Given the description of an element on the screen output the (x, y) to click on. 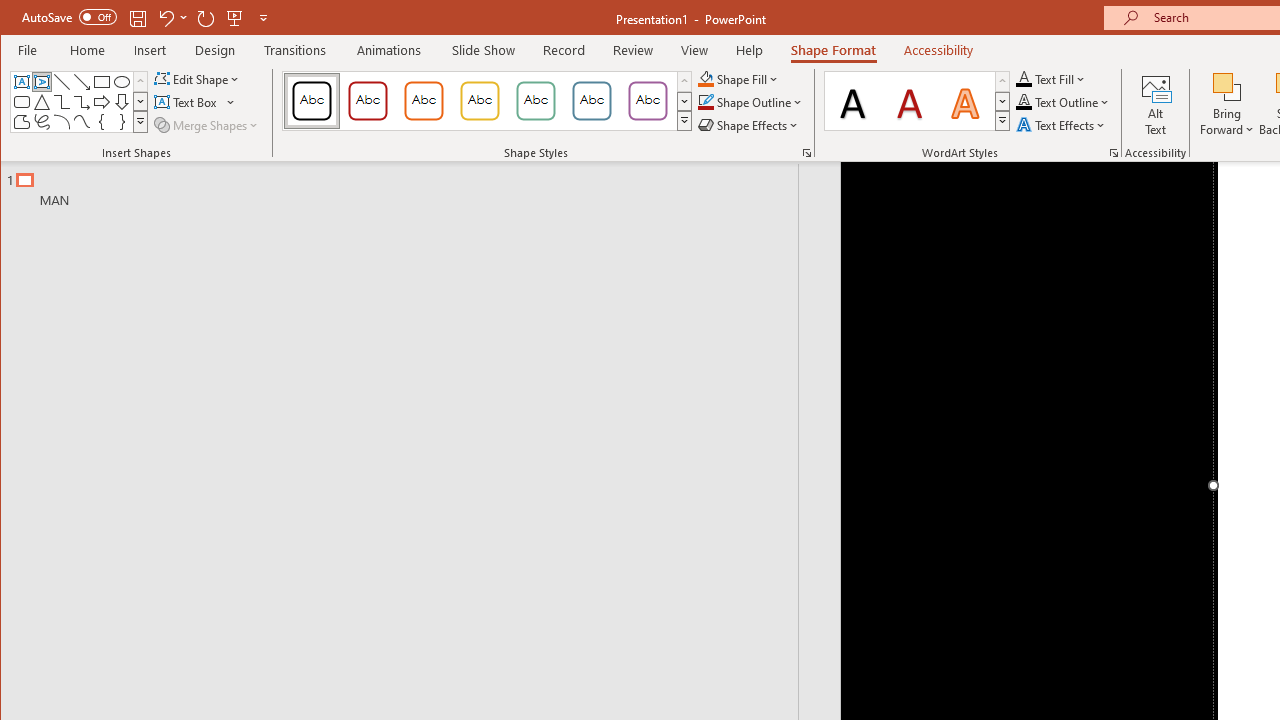
Text Outline RGB(0, 0, 0) (1023, 101)
Alt Text (1156, 104)
Colored Outline - Green, Accent 4 (536, 100)
Merge Shapes (207, 124)
Fill: Black, Text color 1; Shadow (853, 100)
AutomationID: TextStylesGallery (917, 101)
Bring Forward (1227, 86)
Colored Outline - Gold, Accent 3 (479, 100)
AutomationID: ShapeStylesGallery (488, 101)
